Given the description of an element on the screen output the (x, y) to click on. 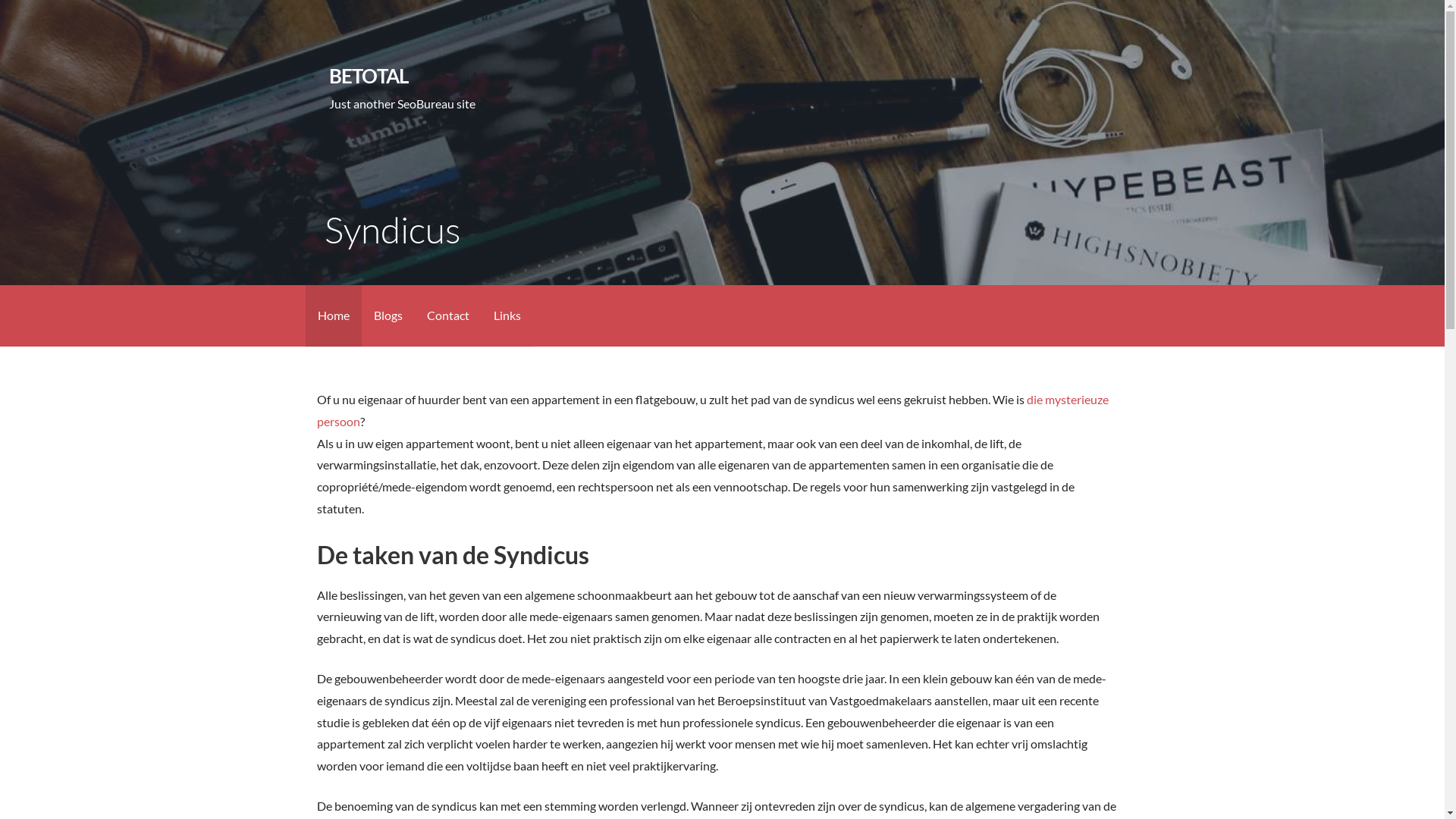
Links Element type: text (506, 315)
BETOTAL Element type: text (368, 75)
Contact Element type: text (447, 315)
die mysterieuze persoon Element type: text (712, 410)
Blogs Element type: text (387, 315)
Home Element type: text (332, 315)
